Given the description of an element on the screen output the (x, y) to click on. 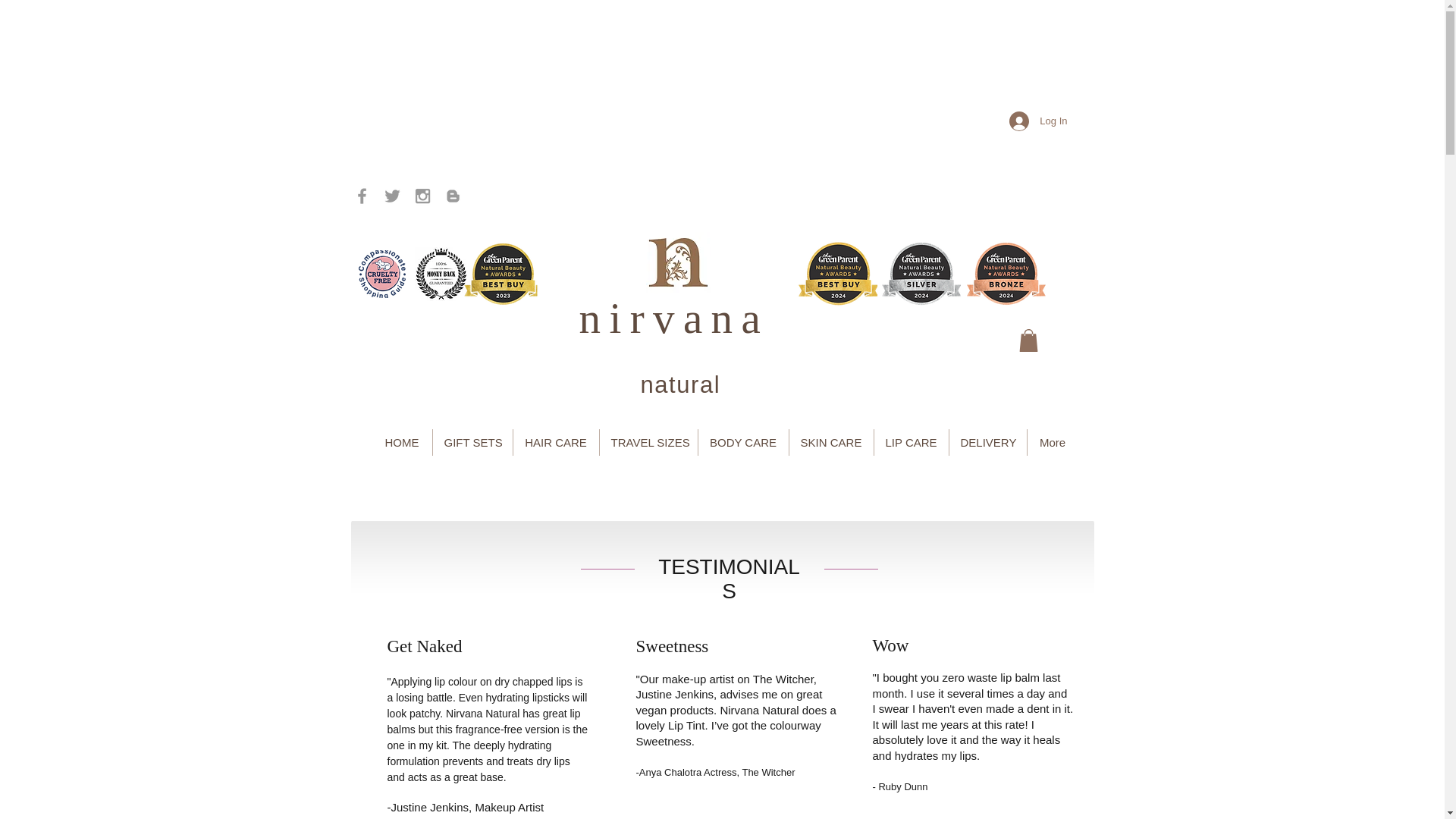
GIFT SETS (472, 442)
TRAVEL SIZES (647, 442)
LIP CARE (911, 442)
BODY CARE (743, 442)
HAIR CARE (555, 442)
Log In (1037, 121)
SKIN CARE (831, 442)
HOME (400, 442)
DELIVERY (986, 442)
nirvana  (684, 318)
